Given the description of an element on the screen output the (x, y) to click on. 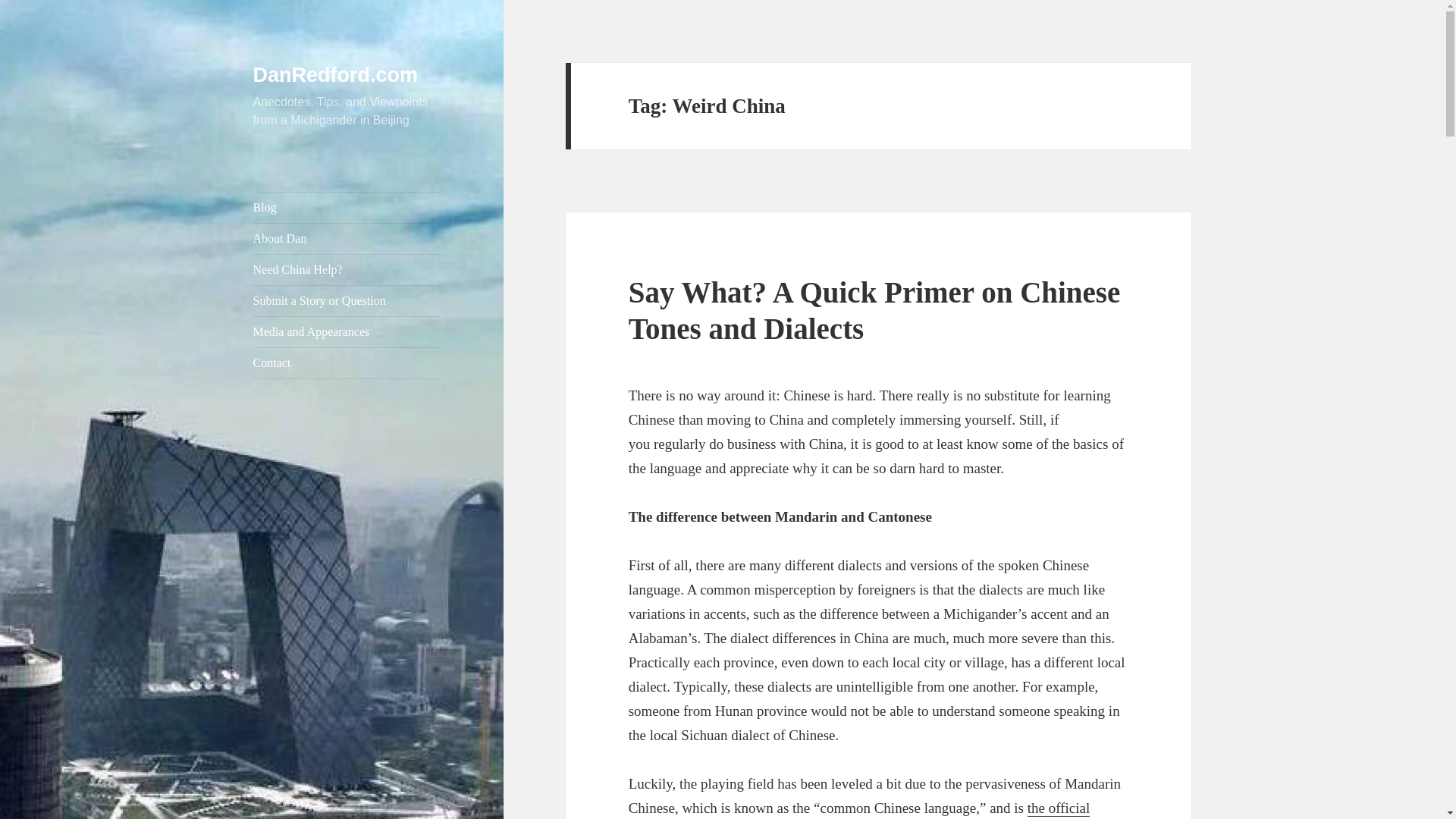
Submit a Story or Question (347, 300)
Need China Help? (347, 269)
Blog (347, 207)
Media and Appearances (347, 331)
Contact (347, 363)
About Dan (347, 238)
Say What? A Quick Primer on Chinese Tones and Dialects (874, 310)
DanRedford.com (336, 74)
the official language of Mainland China (859, 809)
